Given the description of an element on the screen output the (x, y) to click on. 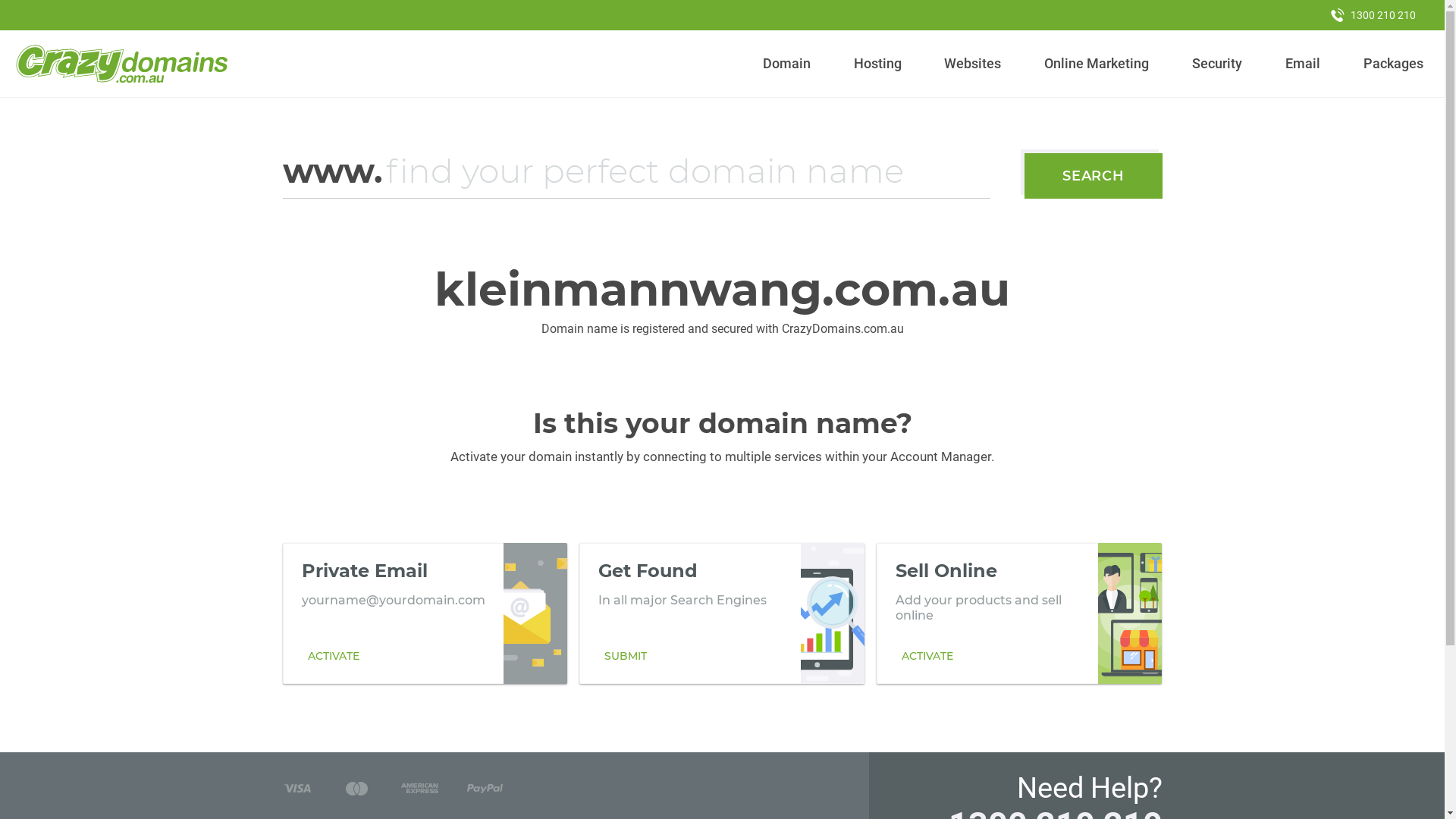
Security Element type: text (1217, 63)
Hosting Element type: text (877, 63)
Packages Element type: text (1392, 63)
Sell Online
Add your products and sell online
ACTIVATE Element type: text (1018, 613)
Domain Element type: text (786, 63)
Websites Element type: text (972, 63)
SEARCH Element type: text (1092, 175)
Private Email
yourname@yourdomain.com
ACTIVATE Element type: text (424, 613)
Online Marketing Element type: text (1096, 63)
1300 210 210 Element type: text (1373, 15)
Email Element type: text (1302, 63)
Get Found
In all major Search Engines
SUBMIT Element type: text (721, 613)
